Given the description of an element on the screen output the (x, y) to click on. 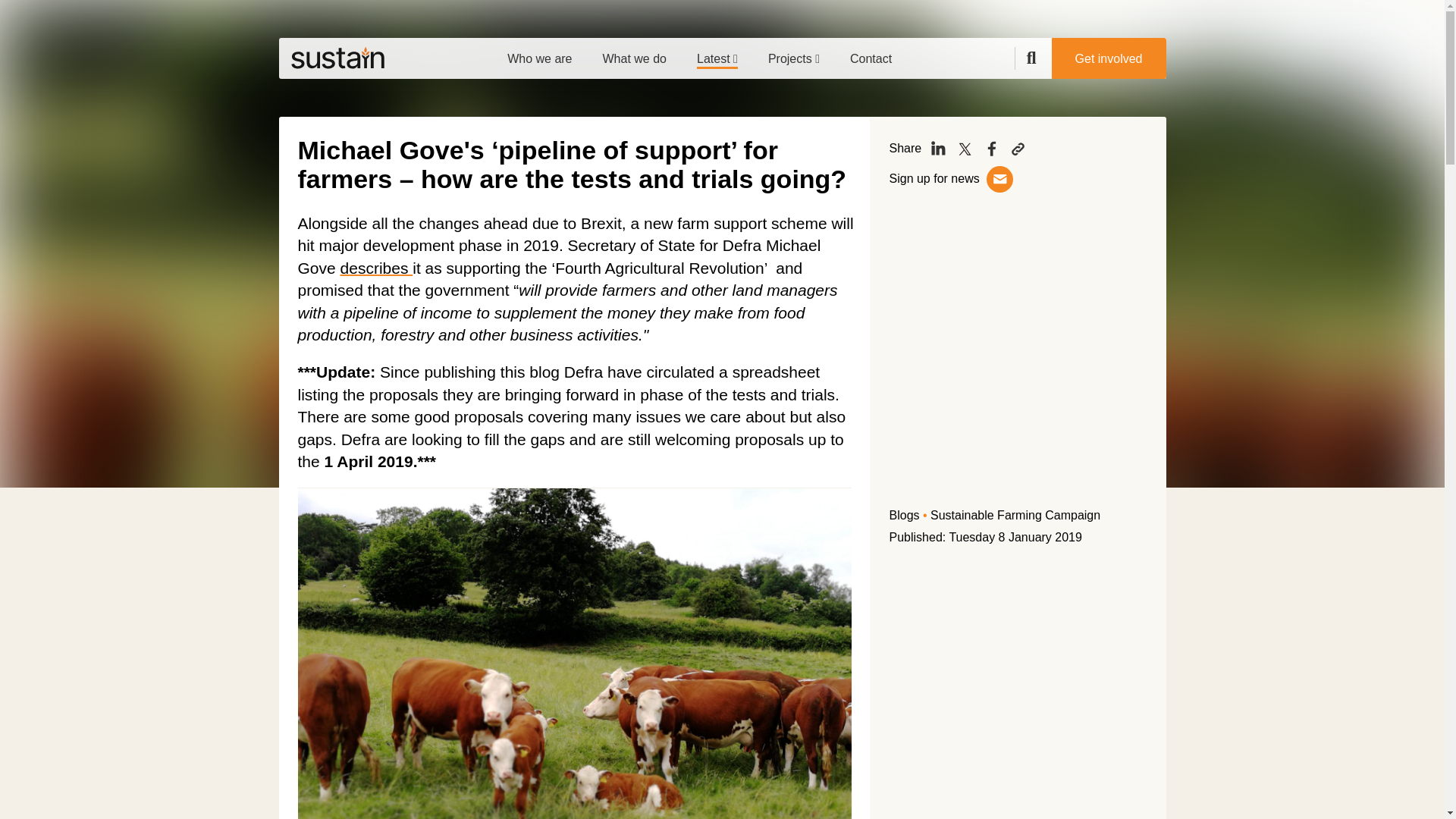
Latest (717, 52)
Facebook (991, 148)
Sustainable Farming Campaign (1015, 514)
What we do (634, 52)
Sustain: the alliance for better food and farming (336, 57)
Contact (870, 52)
Who we are (539, 52)
Share link (1017, 148)
Sign up for news (935, 178)
LinkedIn (938, 148)
